Given the description of an element on the screen output the (x, y) to click on. 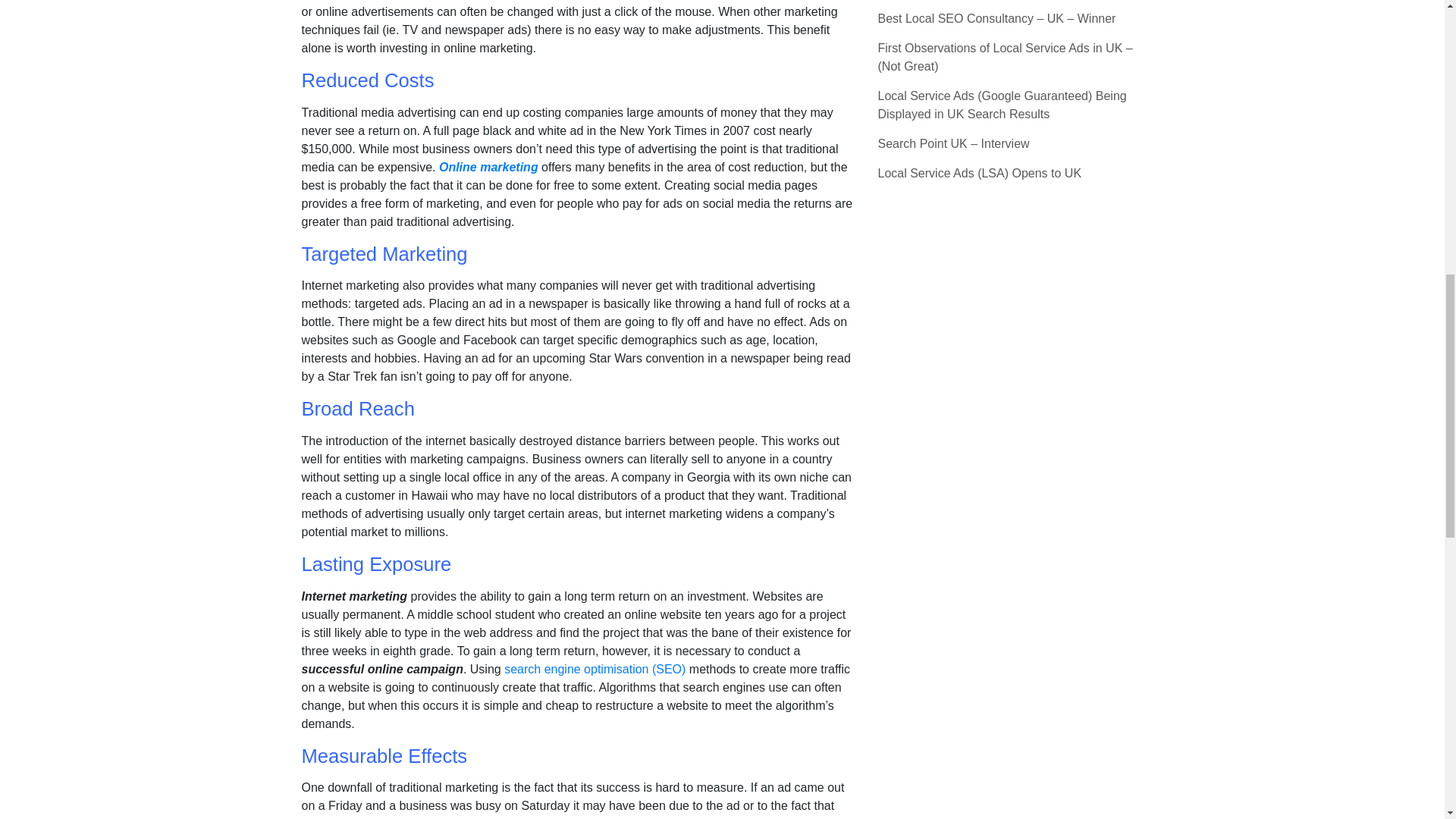
Online marketing (490, 167)
